Given the description of an element on the screen output the (x, y) to click on. 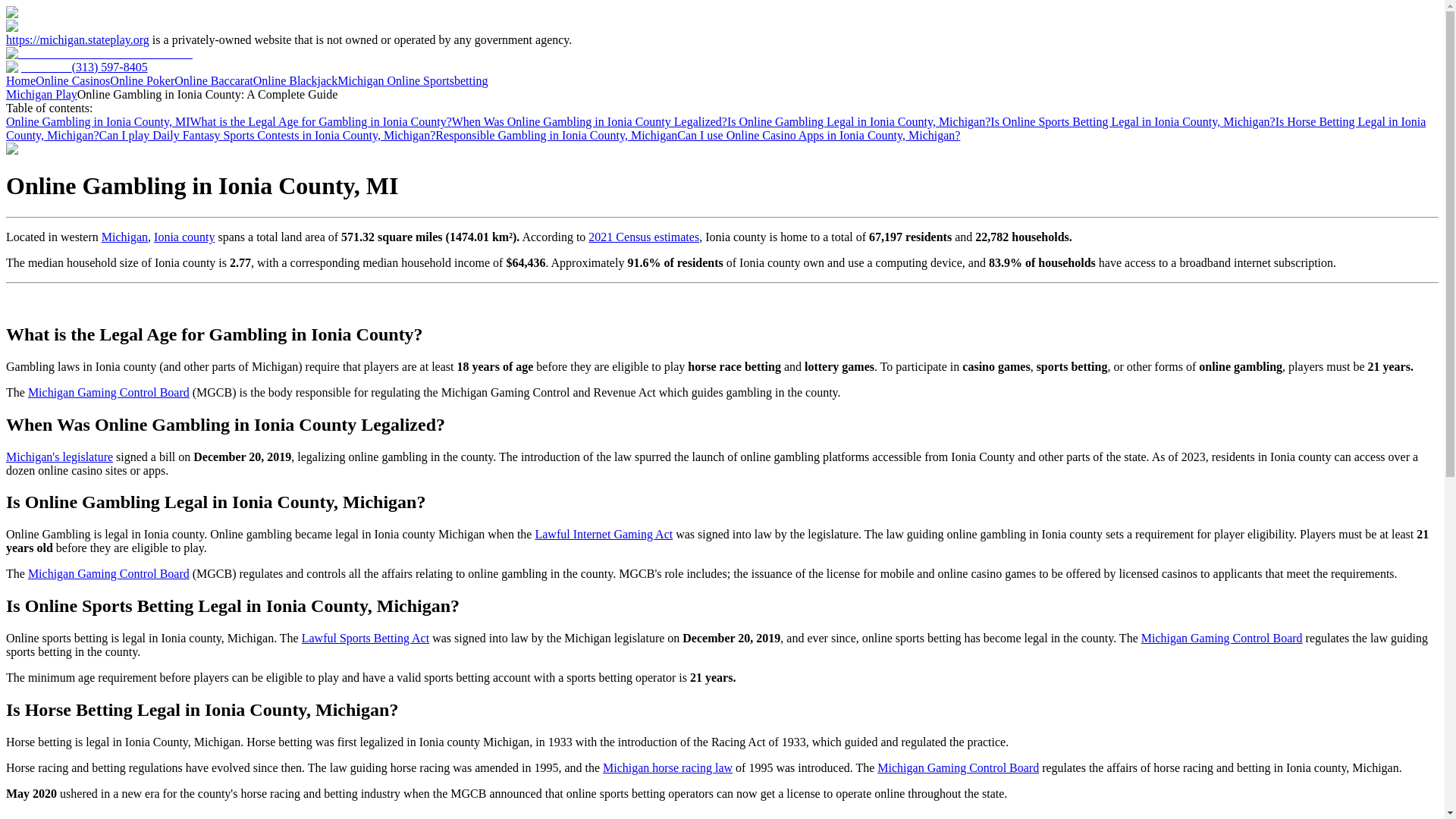
Michigan Play (41, 93)
Is Online Sports Betting Legal in Ionia County, Michigan? (1132, 121)
What is the Legal Age for Gambling in Ionia County? (320, 121)
Michigan horse racing law (667, 767)
Responsible Gambling in Ionia County, Michigan (556, 134)
Michigan (124, 236)
Can I use Online Casino Apps in Ionia County, Michigan? (818, 134)
Online Casinos (72, 80)
Michigan Online Sportsbetting (412, 80)
2021 Census estimates (643, 236)
Is Horse Betting Legal in Ionia County, Michigan? (715, 128)
Michigan Gaming Control Board (958, 767)
Michigan Gaming Control Board (108, 573)
Lawful Sports Betting Act (365, 637)
